Given the description of an element on the screen output the (x, y) to click on. 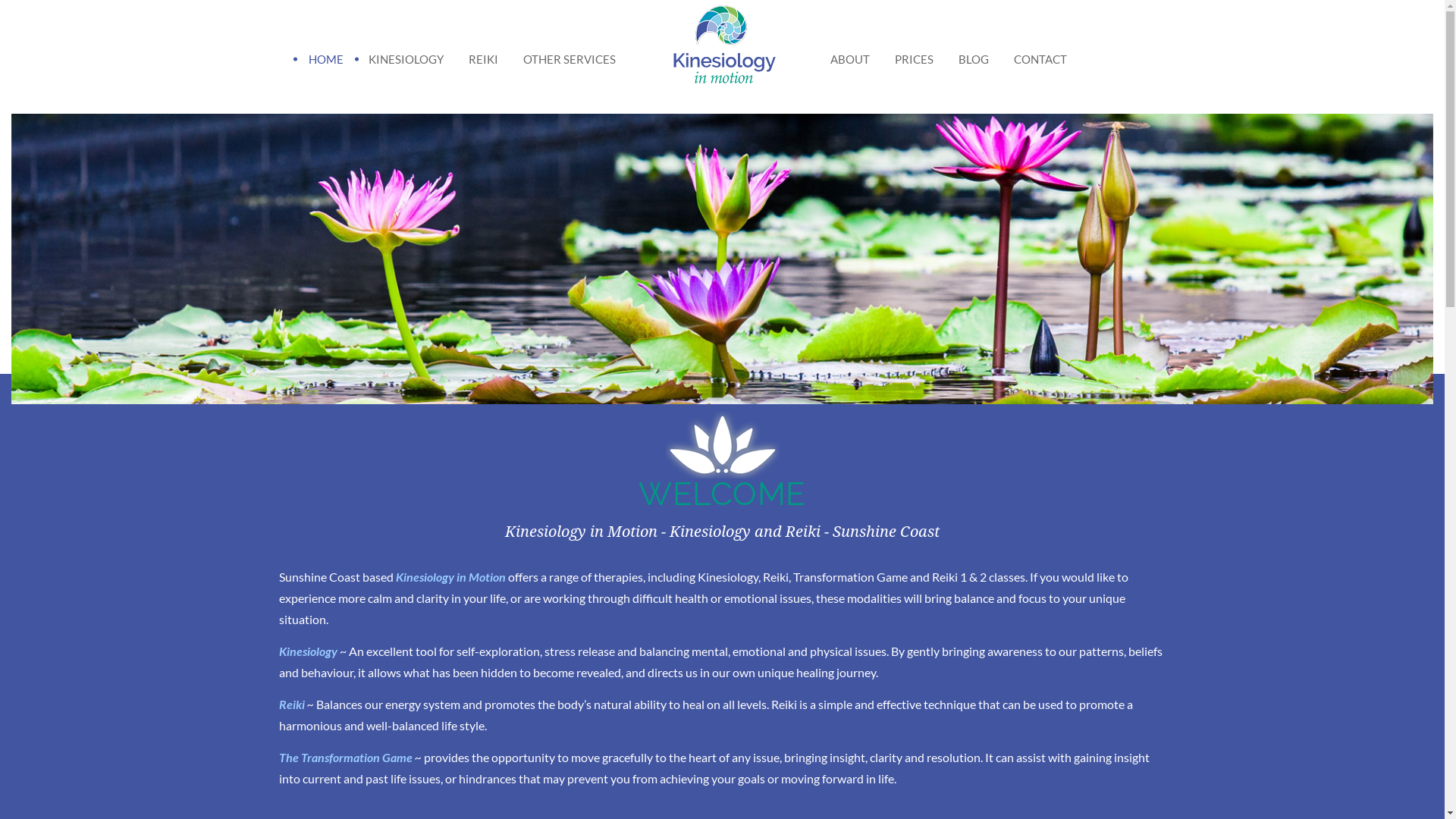
Reiki Element type: text (291, 703)
HOME Element type: text (324, 59)
REIKI Element type: text (483, 59)
BLOG Element type: text (973, 59)
ABOUT Element type: text (849, 59)
Sunshine Coast Element type: text (319, 576)
Kinesiology Element type: text (309, 650)
CONTACT Element type: text (1039, 59)
OTHER SERVICES Element type: text (569, 59)
KINESIOLOGY Element type: text (405, 59)
Kinesiology Reiki Sunshine Coast Element type: hover (721, 52)
The Transformation Game Element type: text (345, 756)
PRICES Element type: text (913, 59)
